Given the description of an element on the screen output the (x, y) to click on. 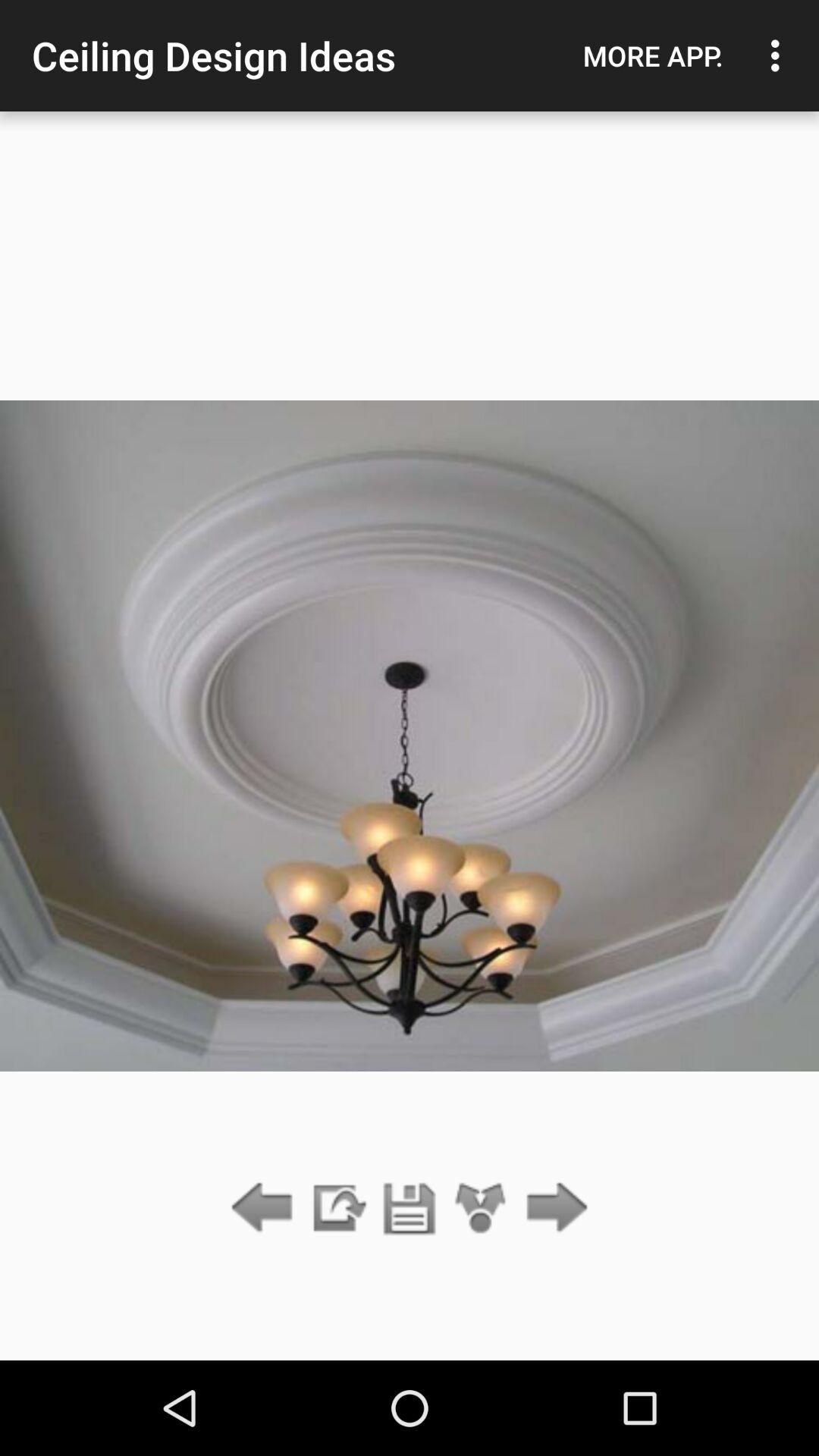
tap the icon to the right of more app. item (779, 55)
